Given the description of an element on the screen output the (x, y) to click on. 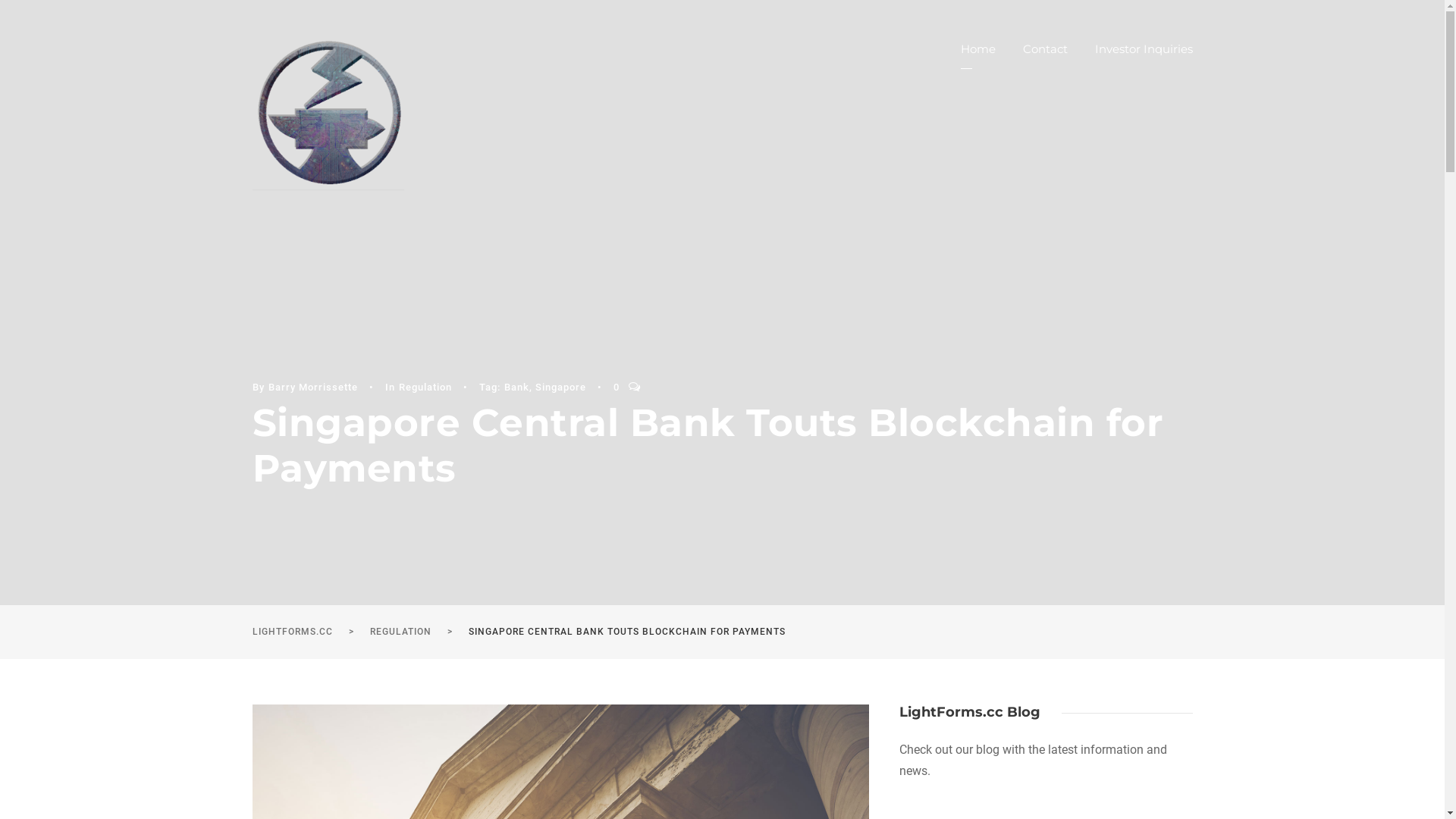
Regulation Element type: text (424, 386)
0 Element type: text (615, 387)
LIGHTFORMS.CC Element type: text (291, 631)
Bank Element type: text (515, 386)
Barry Morrissette Element type: text (312, 386)
Singapore Element type: text (560, 386)
Contact Element type: text (1044, 54)
LTFG_Logo_512x512_silver METAL Bbg circxuit trans clean Element type: hover (327, 113)
Investor Inquiries Element type: text (1143, 54)
Home Element type: text (977, 54)
REGULATION Element type: text (400, 631)
